Given the description of an element on the screen output the (x, y) to click on. 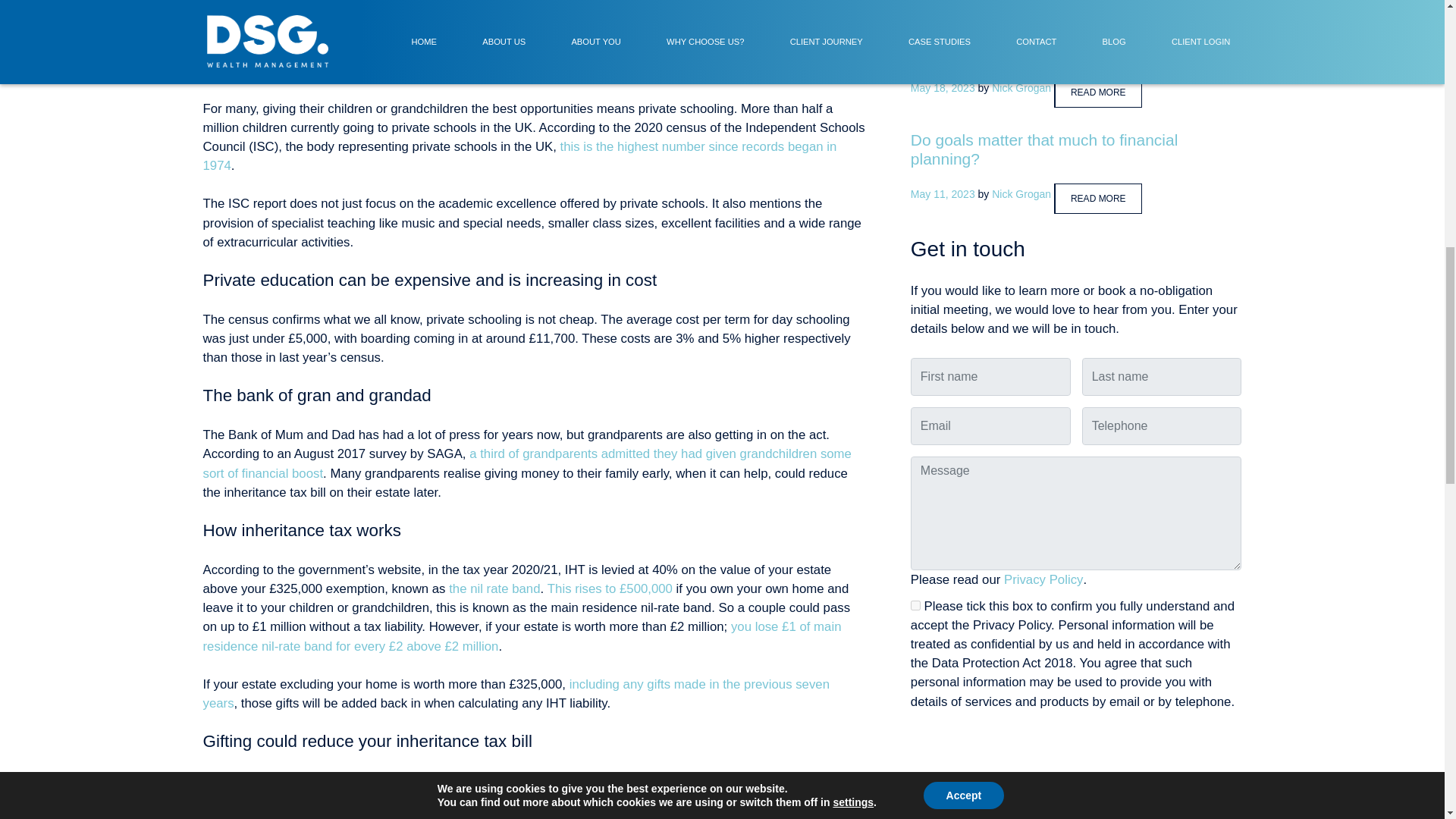
including any gifts made in the previous seven years (516, 693)
1 (915, 605)
the nil rate band (494, 588)
Submit (986, 750)
relief (382, 815)
this is the highest number since records began in 1974 (520, 155)
